Given the description of an element on the screen output the (x, y) to click on. 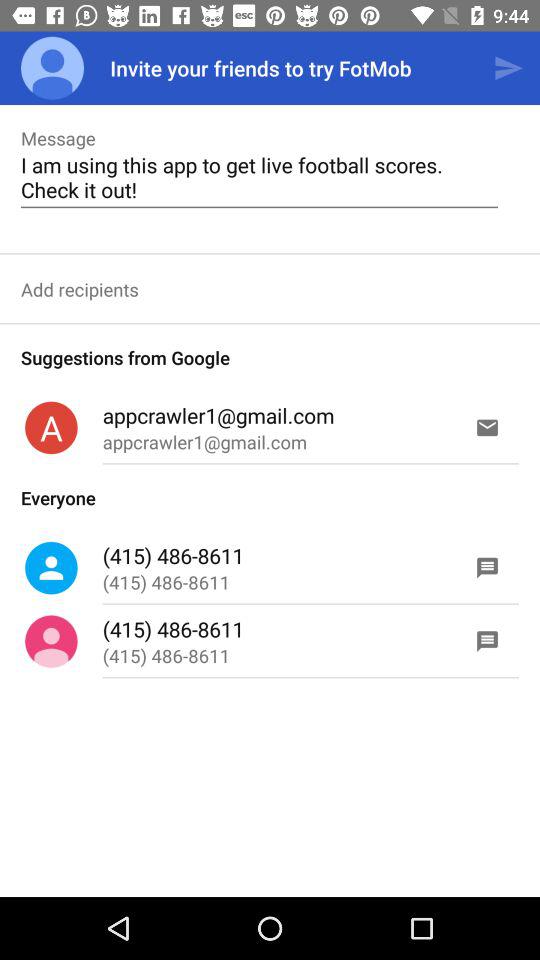
turn on item at the top right corner (508, 67)
